Given the description of an element on the screen output the (x, y) to click on. 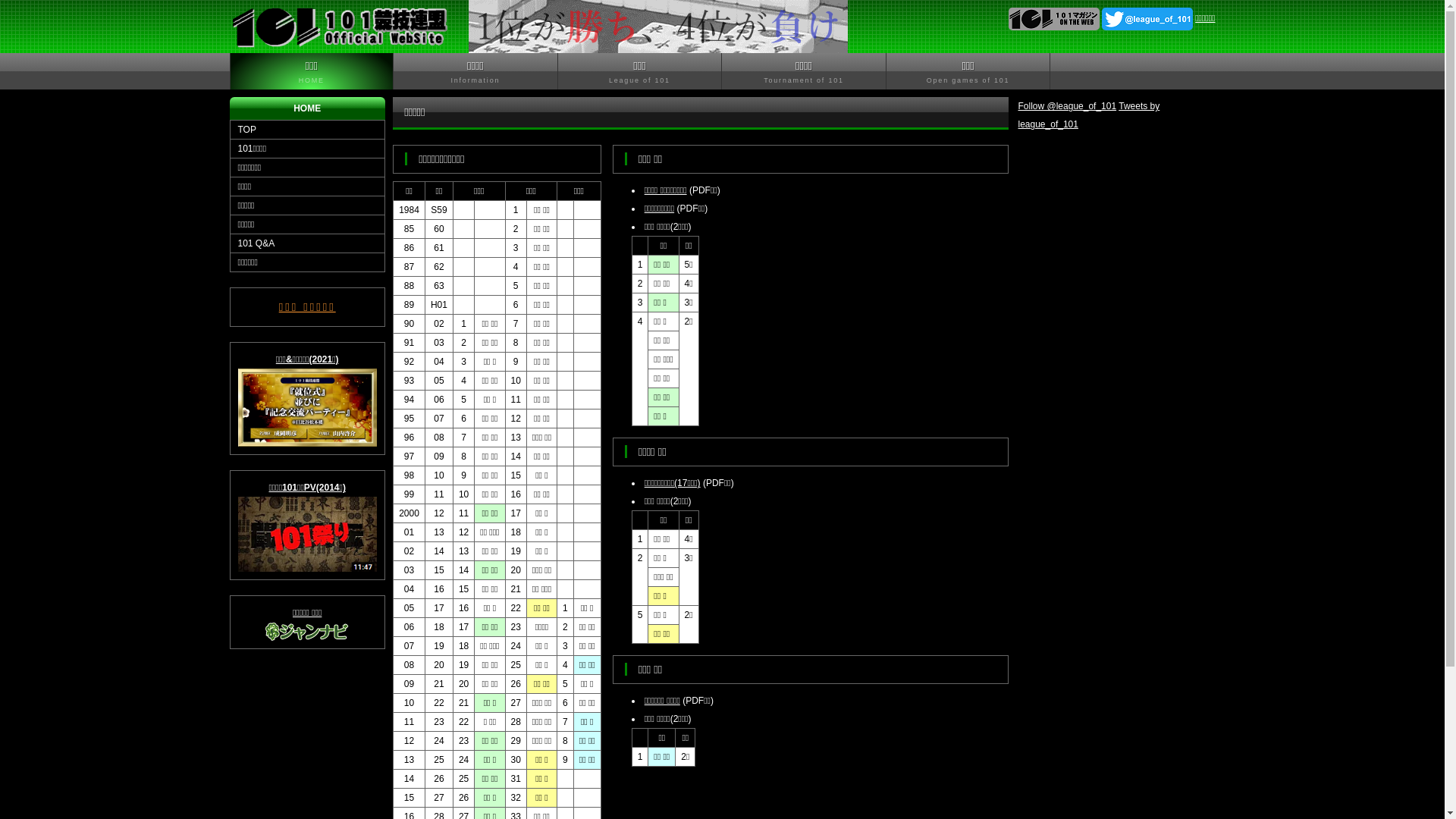
TOP Element type: text (306, 128)
101 Q&A Element type: text (306, 242)
Follow @league_of_101 Element type: text (1066, 105)
Tweets by league_of_101 Element type: text (1088, 114)
